Given the description of an element on the screen output the (x, y) to click on. 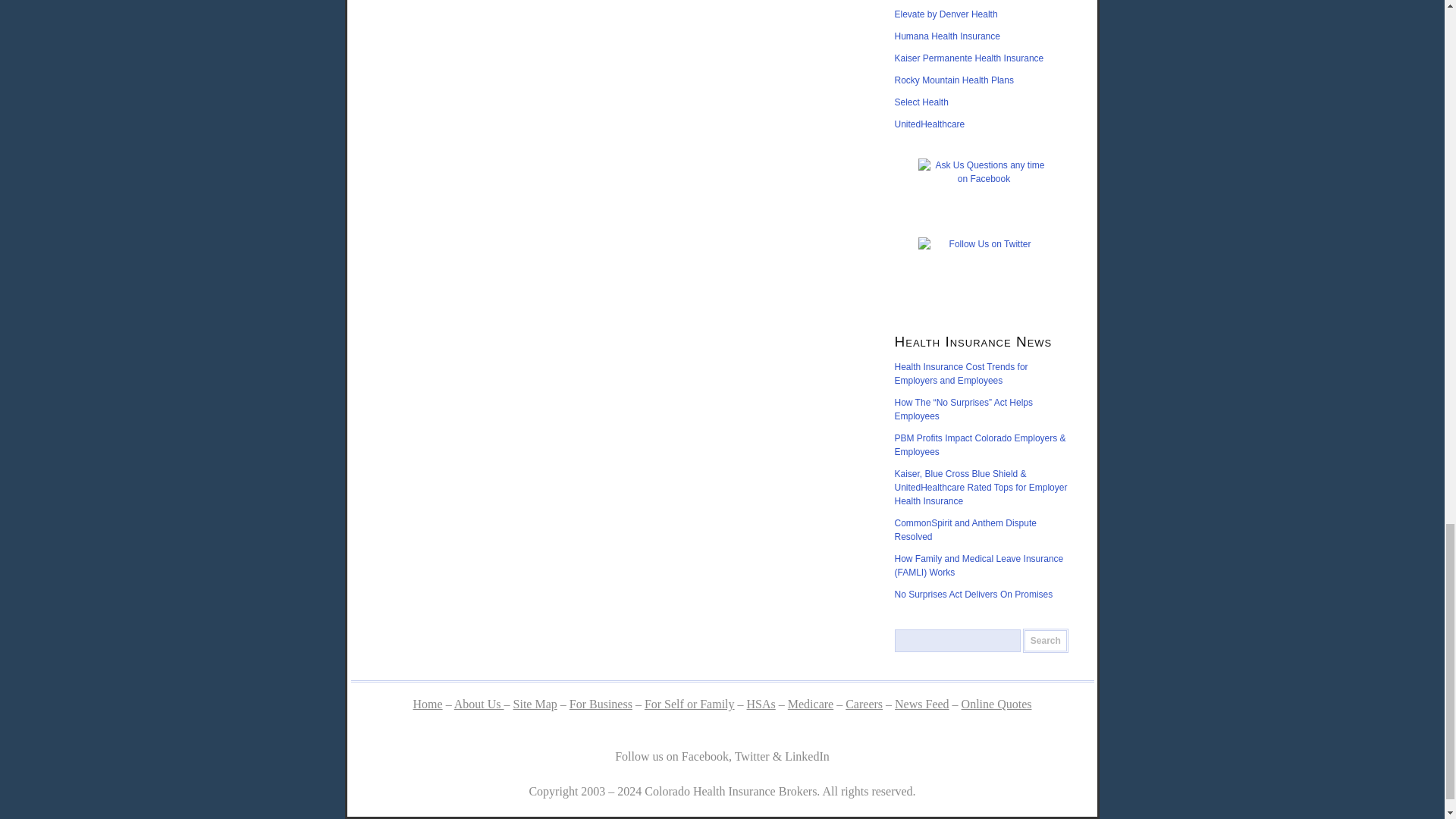
Like Us on Facebook (983, 190)
Search (1045, 640)
Follow Us on Twitter (983, 270)
